Given the description of an element on the screen output the (x, y) to click on. 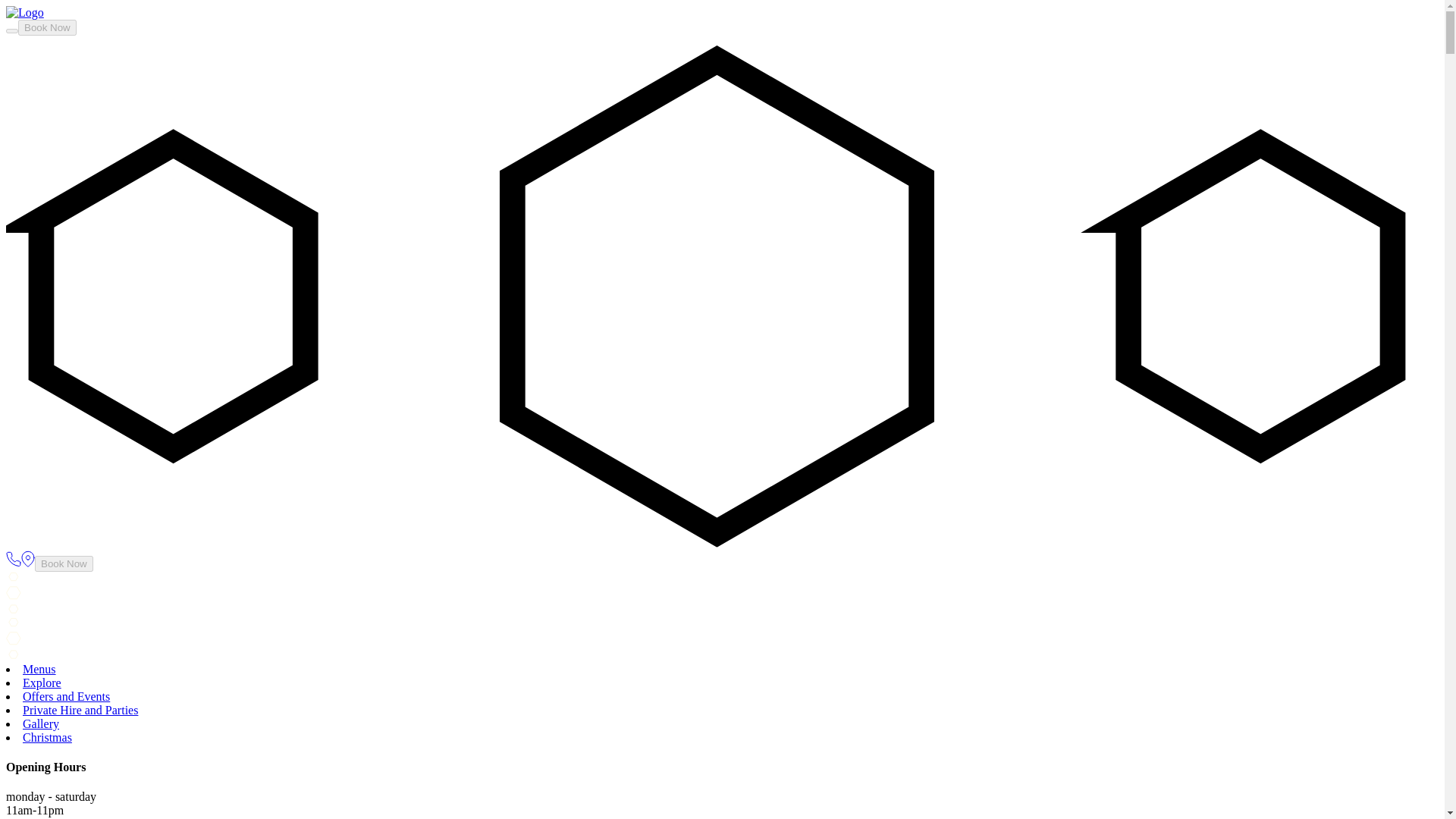
Private Hire and Parties (80, 709)
Explore (42, 682)
Menus (39, 668)
Book Now (63, 563)
Gallery (41, 723)
Christmas (47, 737)
Offers and Events (66, 696)
Book Now (47, 27)
